Given the description of an element on the screen output the (x, y) to click on. 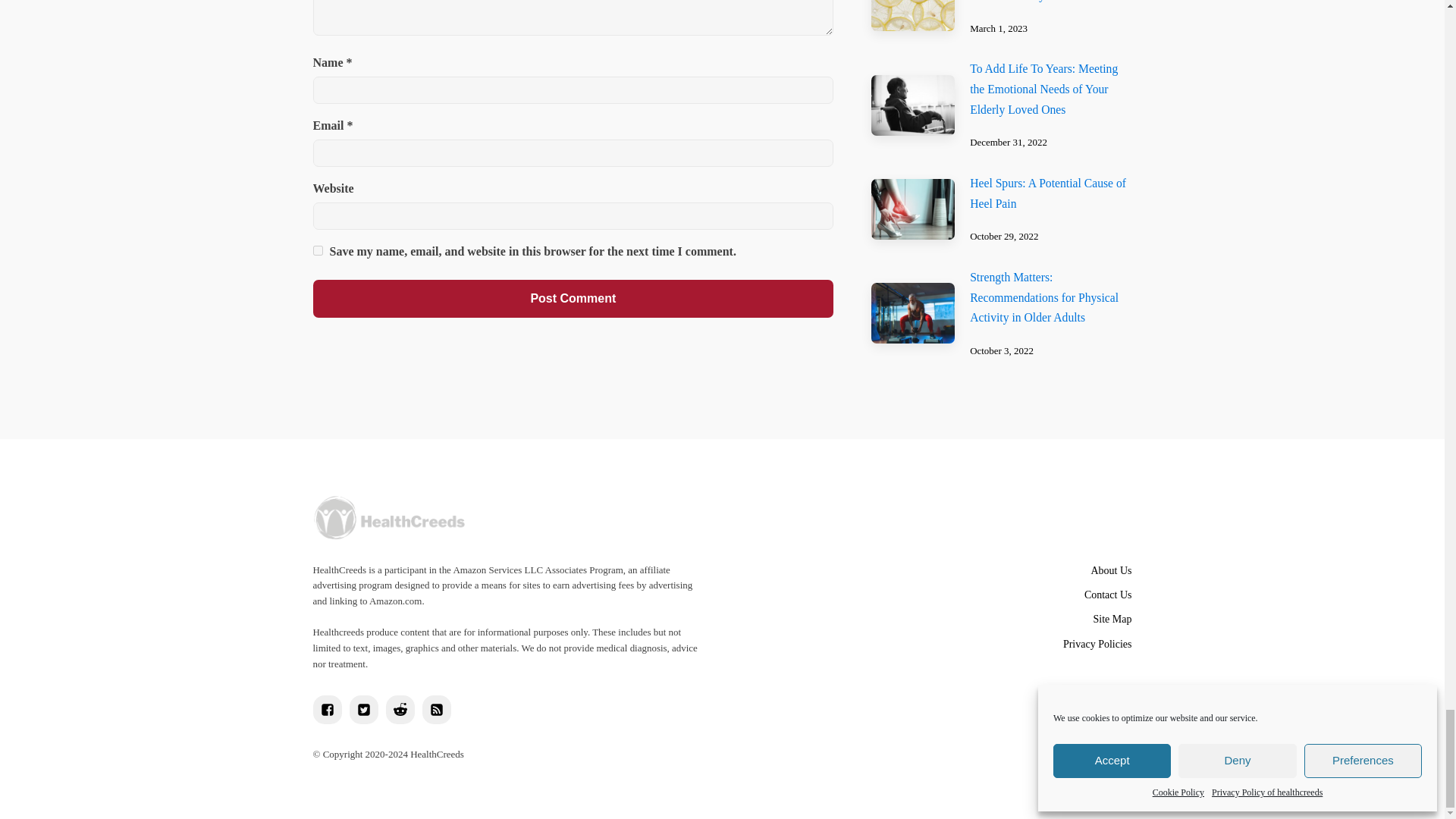
yes (317, 250)
Post Comment (572, 298)
